Given the description of an element on the screen output the (x, y) to click on. 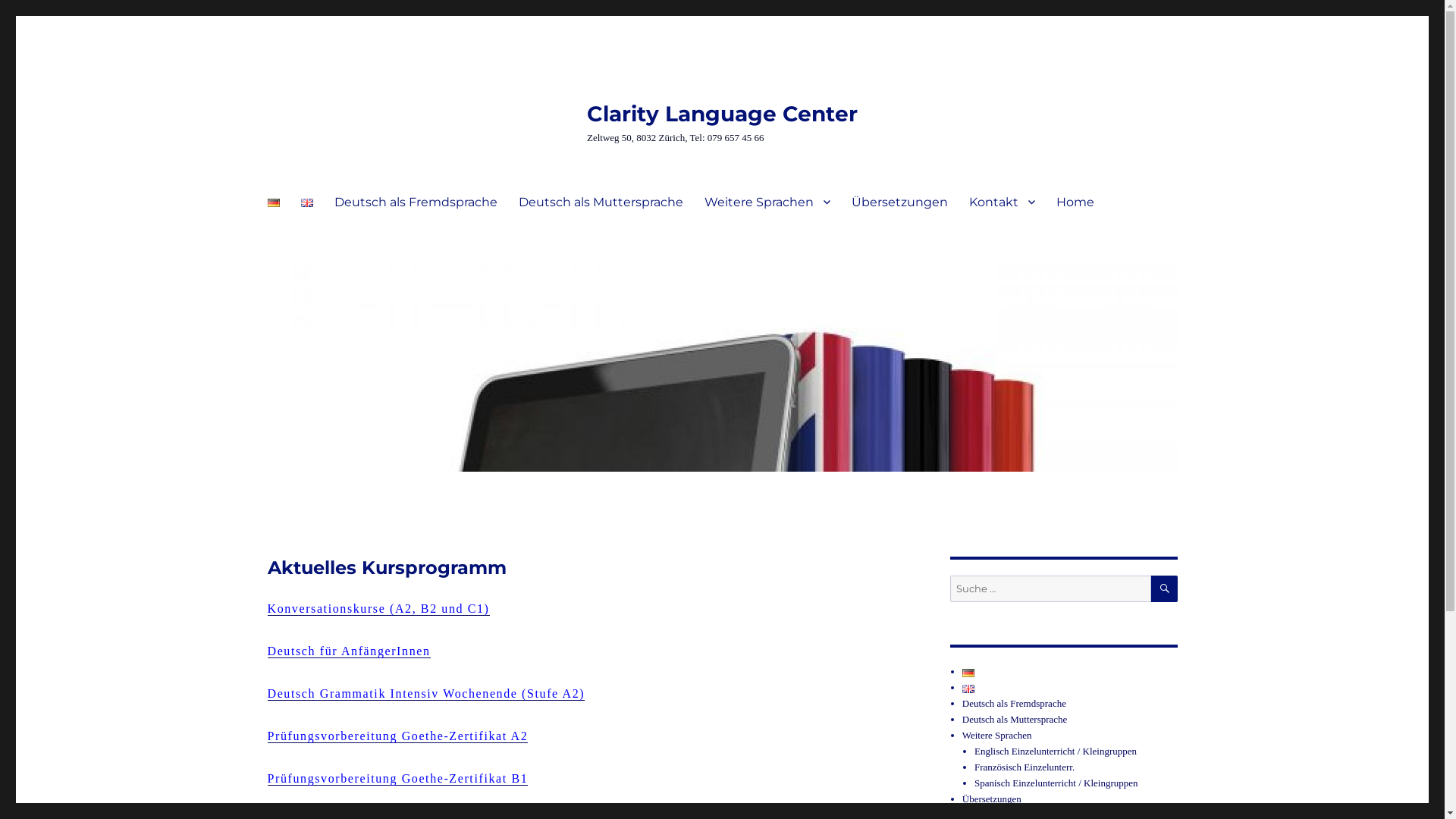
Deutsch Element type: hover (968, 672)
Deutsch als Muttersprache Element type: text (600, 201)
SUCHE Element type: text (1164, 588)
Clarity Language Center Element type: text (721, 113)
Deutsch Element type: hover (272, 202)
Konversationskurse (A2, B2 und C1) Element type: text (377, 608)
Kontakt Element type: text (1001, 201)
Spanisch Einzelunterricht / Kleingruppen Element type: text (1056, 782)
Deutsch als Muttersprache Element type: text (1014, 718)
Deutsch als Fremdsprache Element type: text (415, 201)
English Element type: hover (968, 688)
Home Element type: text (1074, 201)
Weitere Sprachen Element type: text (766, 201)
Englisch Einzelunterricht / Kleingruppen Element type: text (1055, 750)
Weitere Sprachen Element type: text (997, 734)
Deutsch Grammatik Intensiv Wochenende (Stufe A2) Element type: text (425, 693)
English Element type: hover (306, 202)
Deutsch als Fremdsprache Element type: text (1014, 703)
